Given the description of an element on the screen output the (x, y) to click on. 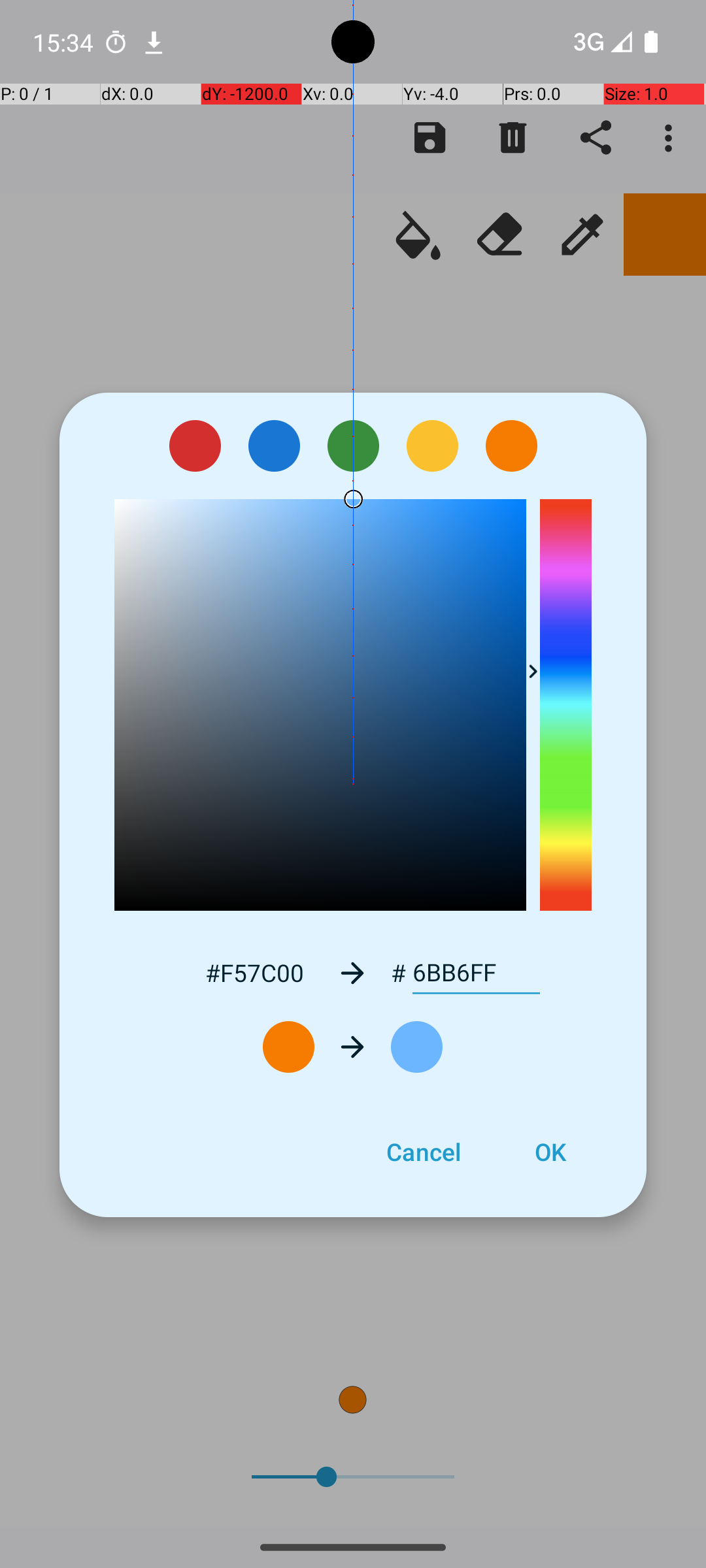
6BB6FF Element type: android.widget.EditText (475, 972)
